Given the description of an element on the screen output the (x, y) to click on. 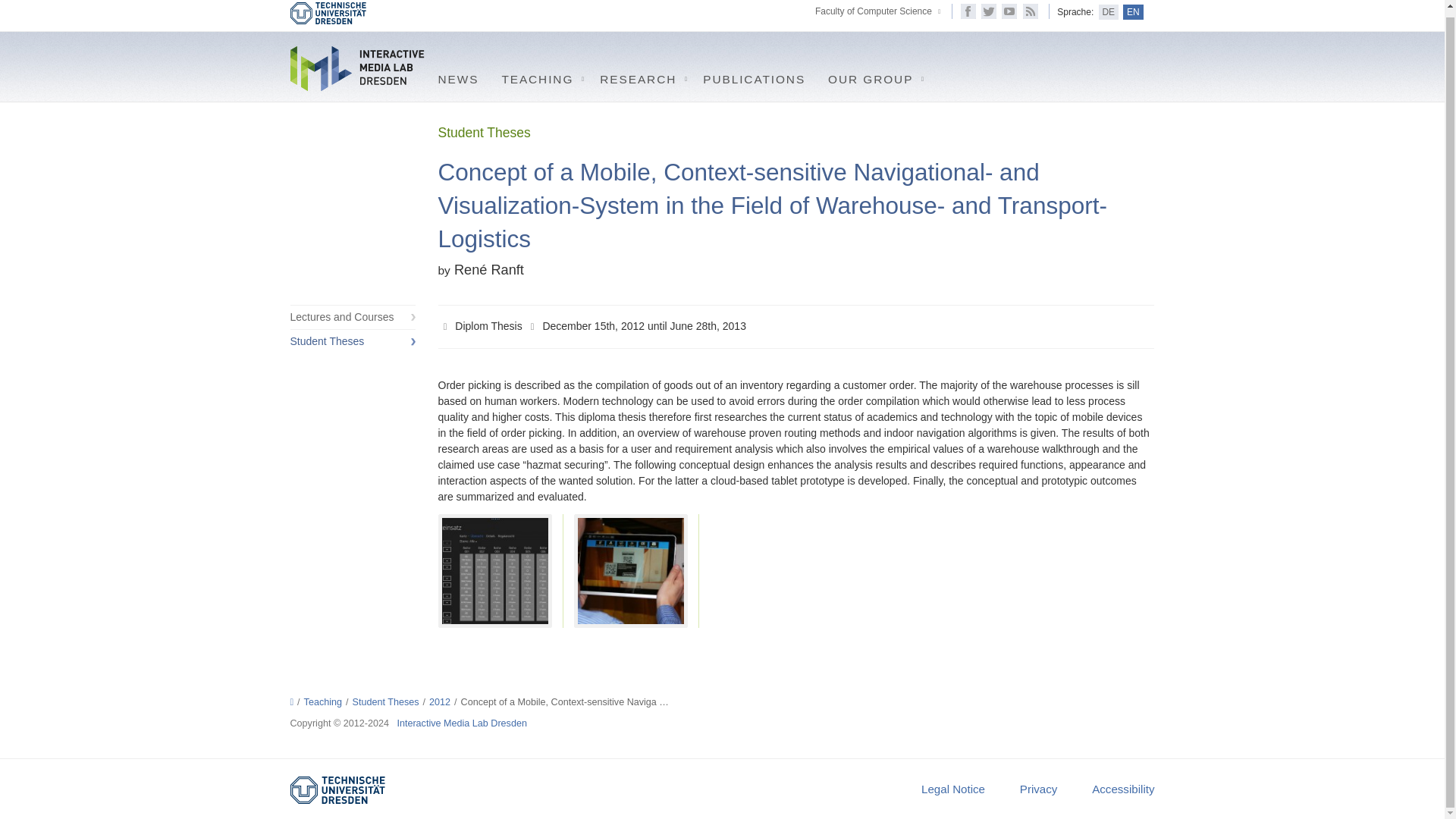
Student Theses (351, 341)
Lectures and Courses (351, 317)
Faculty of Computer Science (873, 11)
NEWS (457, 75)
Interactive Media Lab Dresden (357, 67)
OUR GROUP (872, 75)
TEACHING (538, 75)
Facebook (967, 11)
RSS Feeds (1030, 11)
Twitter (988, 11)
EN (1132, 11)
Youtube (1008, 11)
RESEARCH (639, 75)
PUBLICATIONS (753, 75)
DE (1108, 11)
